Given the description of an element on the screen output the (x, y) to click on. 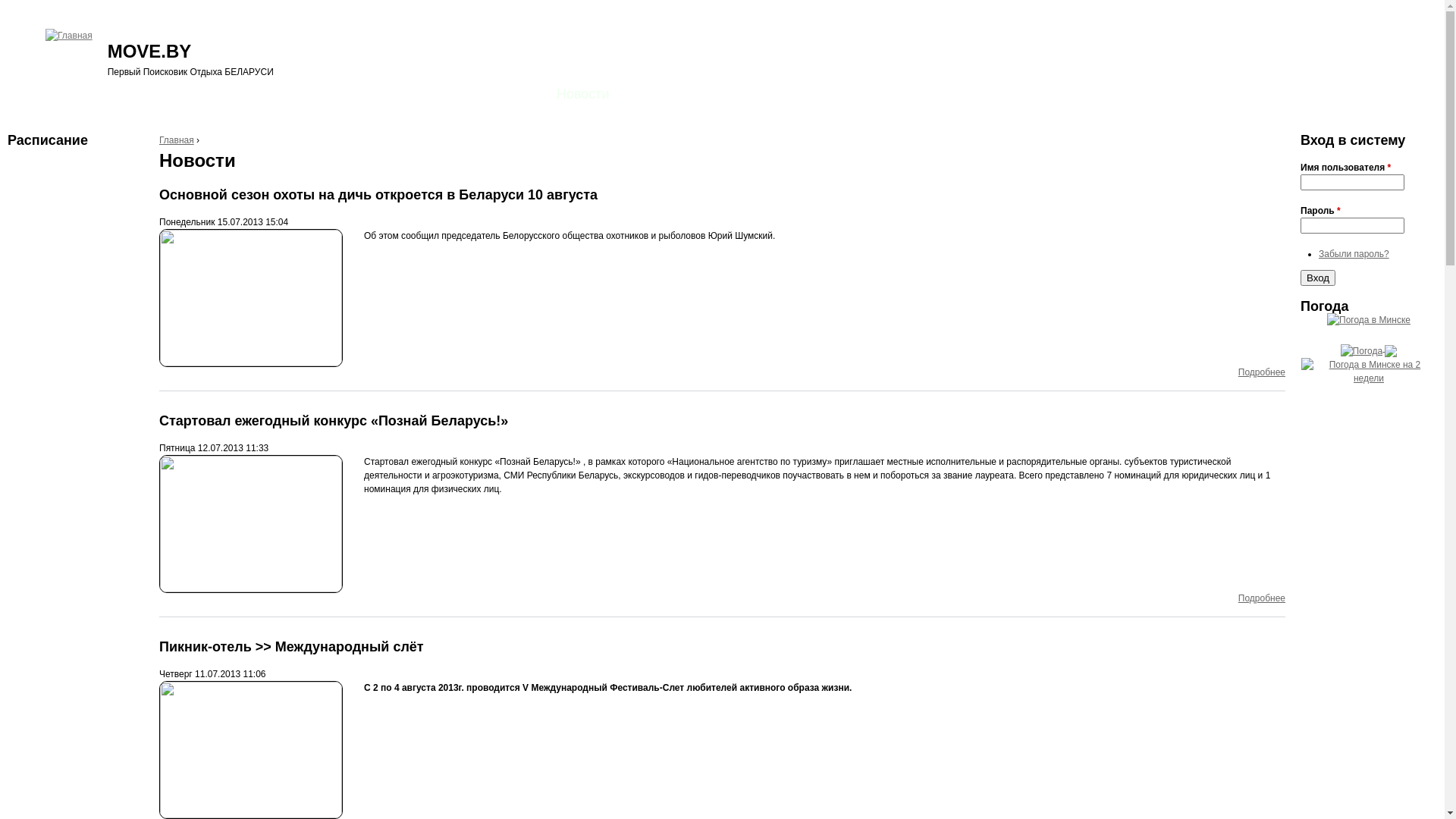
MOVE.BY Element type: text (149, 50)
Jump to navigation Element type: text (722, 2)
